Given the description of an element on the screen output the (x, y) to click on. 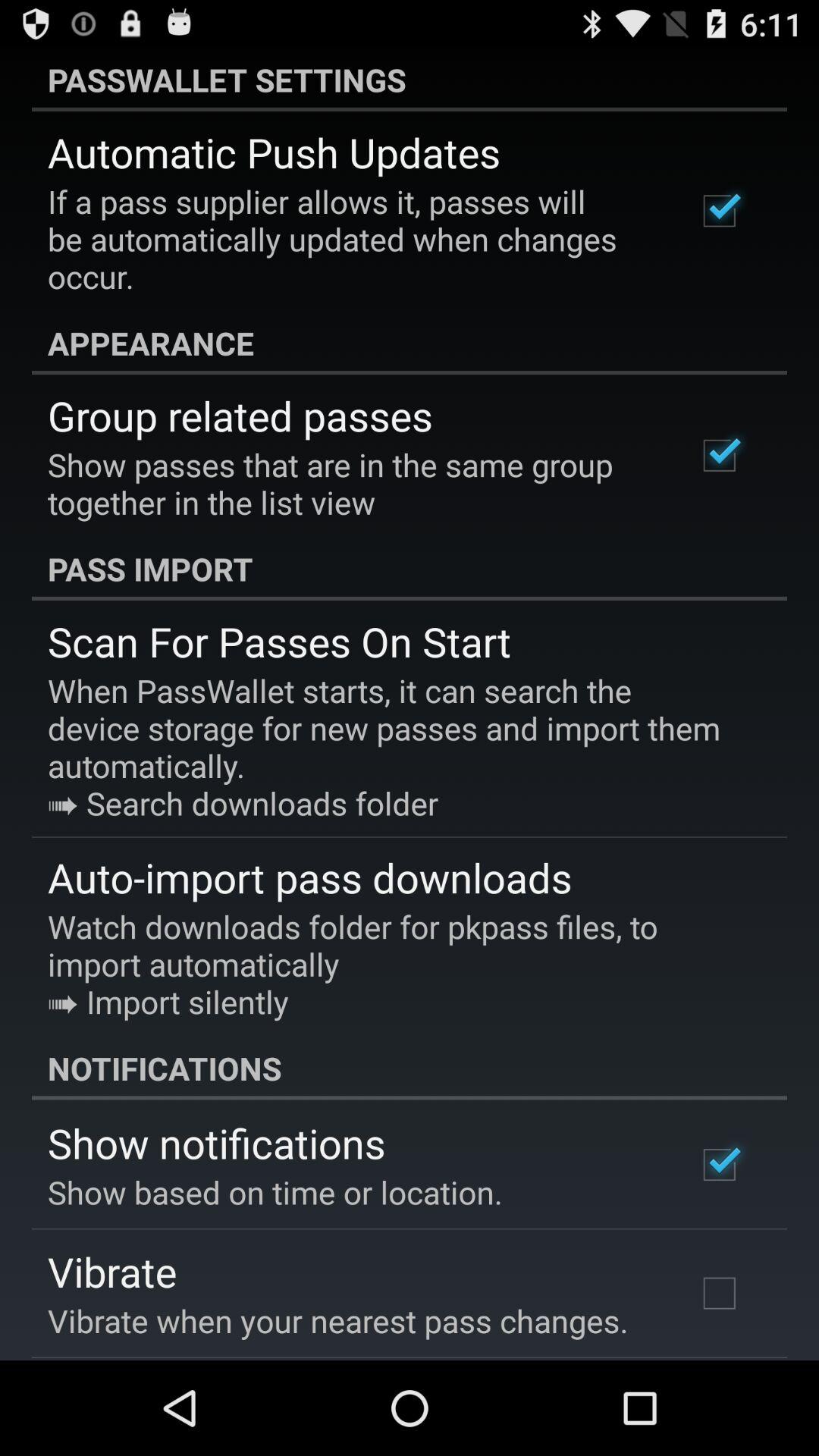
flip to vibrate when your icon (337, 1320)
